Given the description of an element on the screen output the (x, y) to click on. 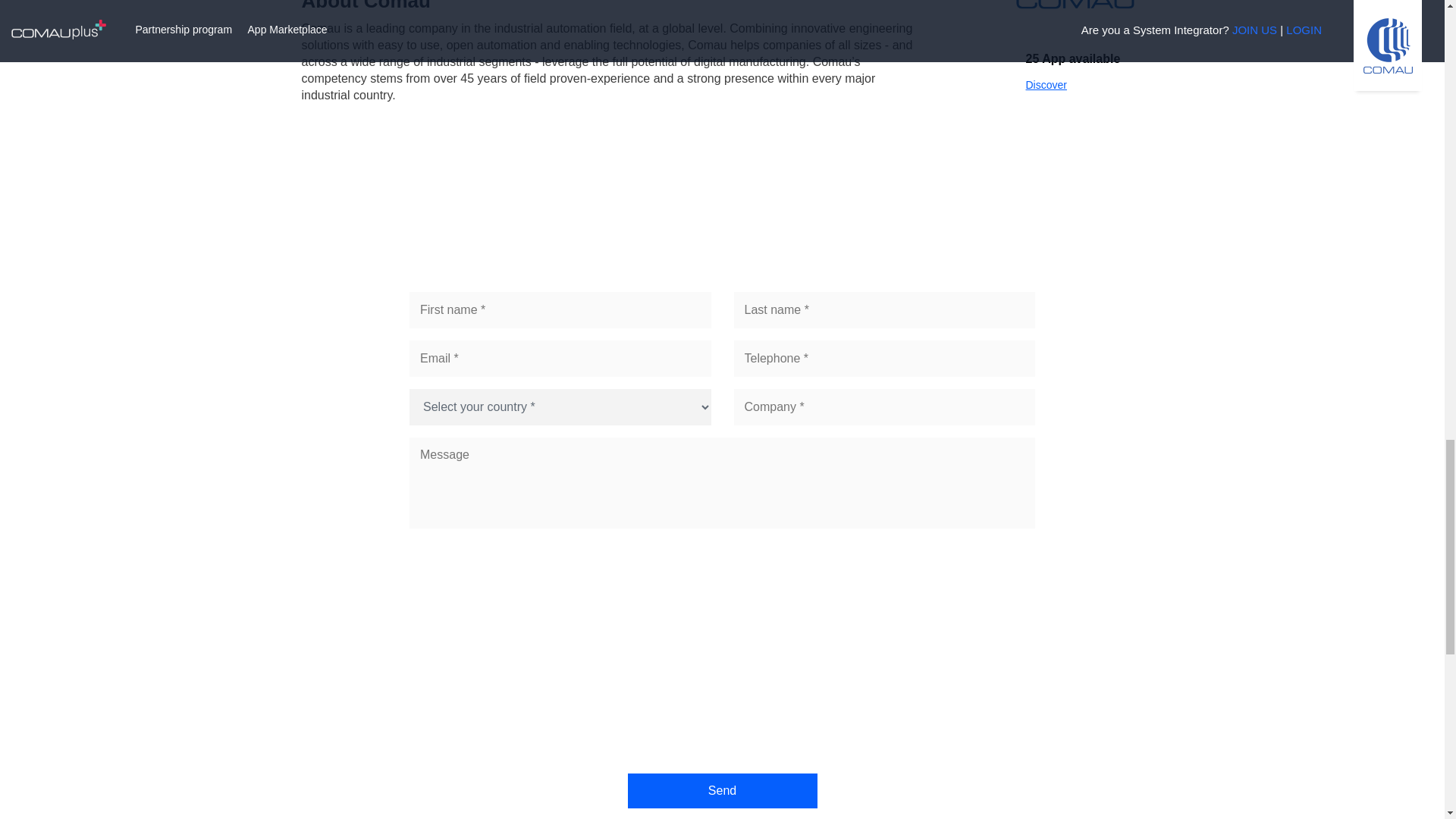
Discover (1045, 84)
Send (721, 790)
Must be a valid email address (560, 358)
Comau (1074, 6)
Must contain 1 to 20 decimals (884, 358)
Comau (1045, 84)
